Given the description of an element on the screen output the (x, y) to click on. 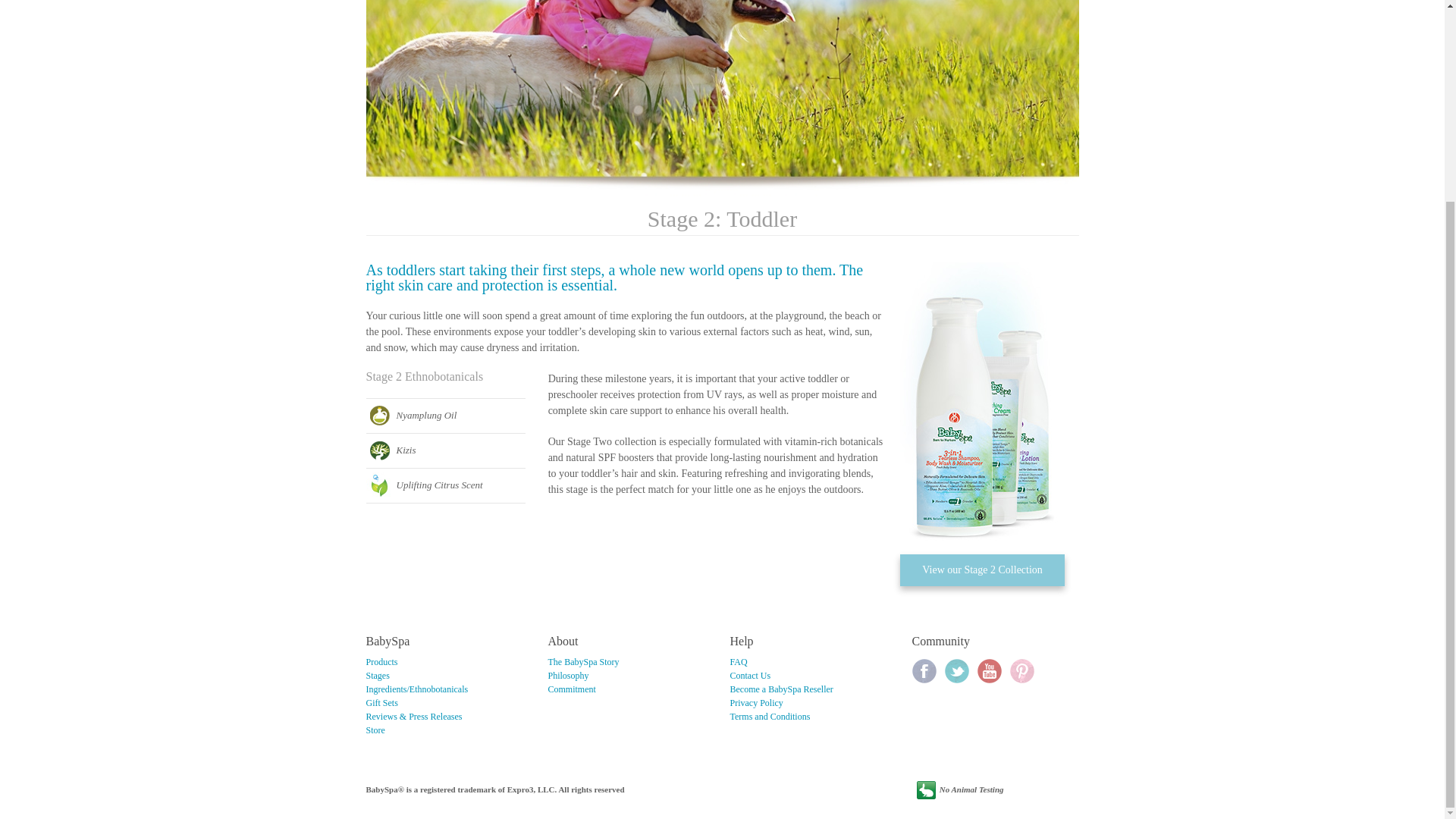
Store (374, 729)
Commitment (571, 688)
The BabySpa Story (582, 661)
Gift Sets (381, 702)
Terms and Conditions (769, 716)
Become a BabySpa Reseller (780, 688)
Privacy Policy (756, 702)
Products (381, 661)
Contact Us (749, 675)
FAQ (737, 661)
Stages (376, 675)
View our Stage 2 Collection (981, 569)
Philosophy (567, 675)
